Given the description of an element on the screen output the (x, y) to click on. 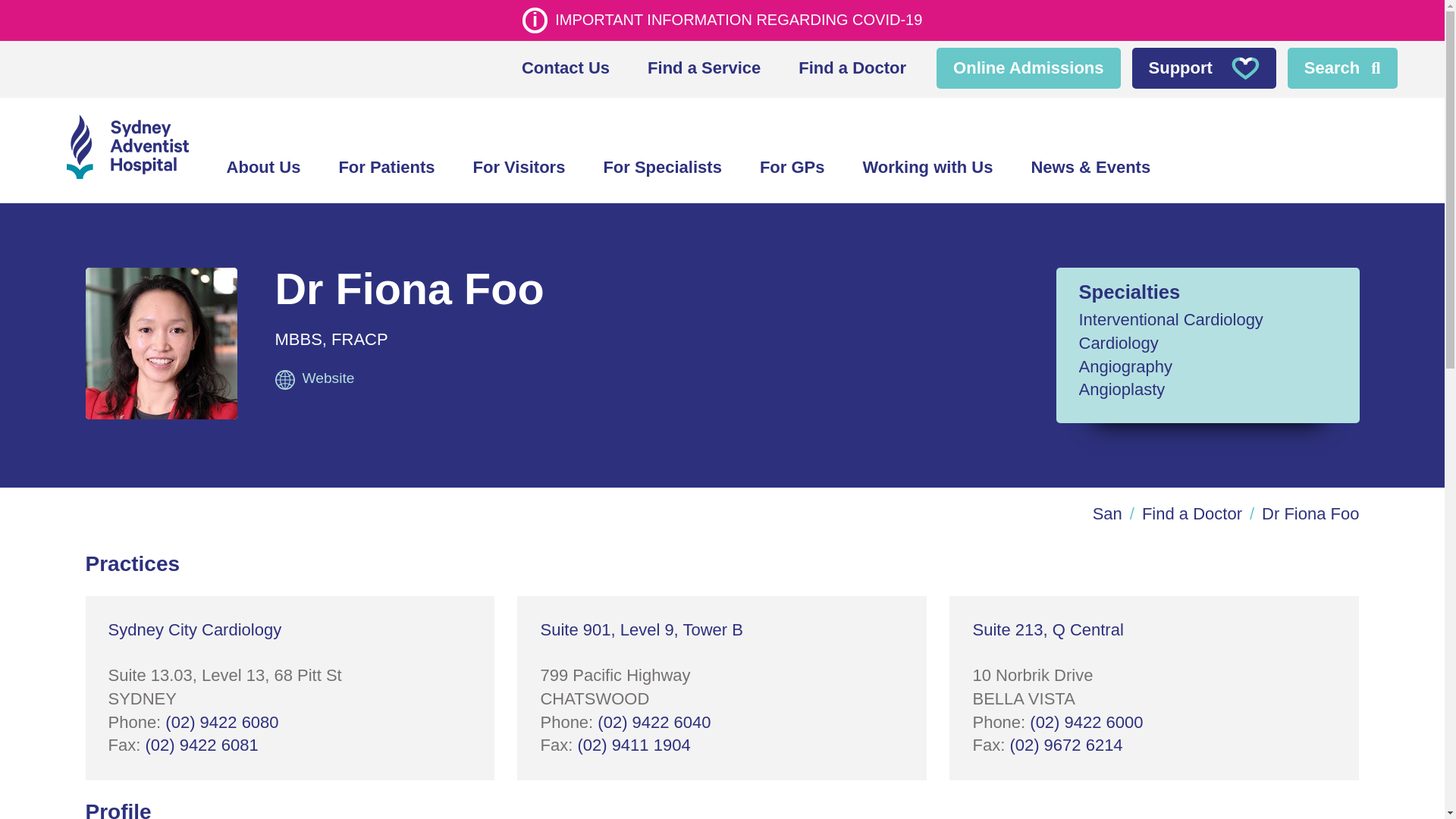
Find a Service (703, 68)
For Visitors (519, 167)
About Us (264, 167)
Contact Us (565, 68)
For Patients (385, 167)
About Us (264, 167)
Find a Doctor (851, 68)
Search (1342, 68)
For Visitors (519, 167)
For Specialists (662, 167)
Online Admissions (1027, 68)
Support (1204, 68)
For Patients (385, 167)
IMPORTANT INFORMATION REGARDING COVID-19 (721, 20)
